Given the description of an element on the screen output the (x, y) to click on. 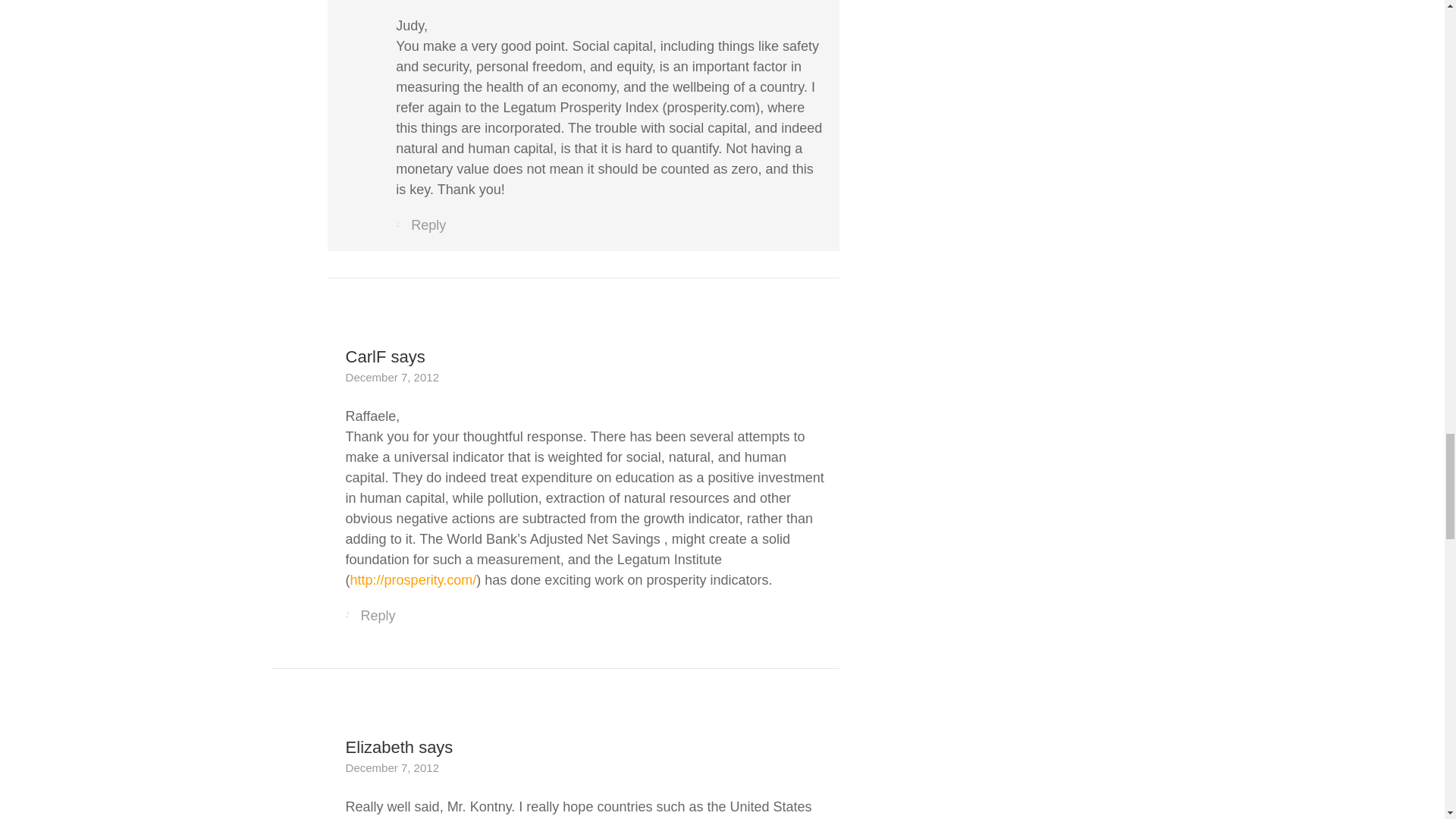
Reply (420, 225)
